Given the description of an element on the screen output the (x, y) to click on. 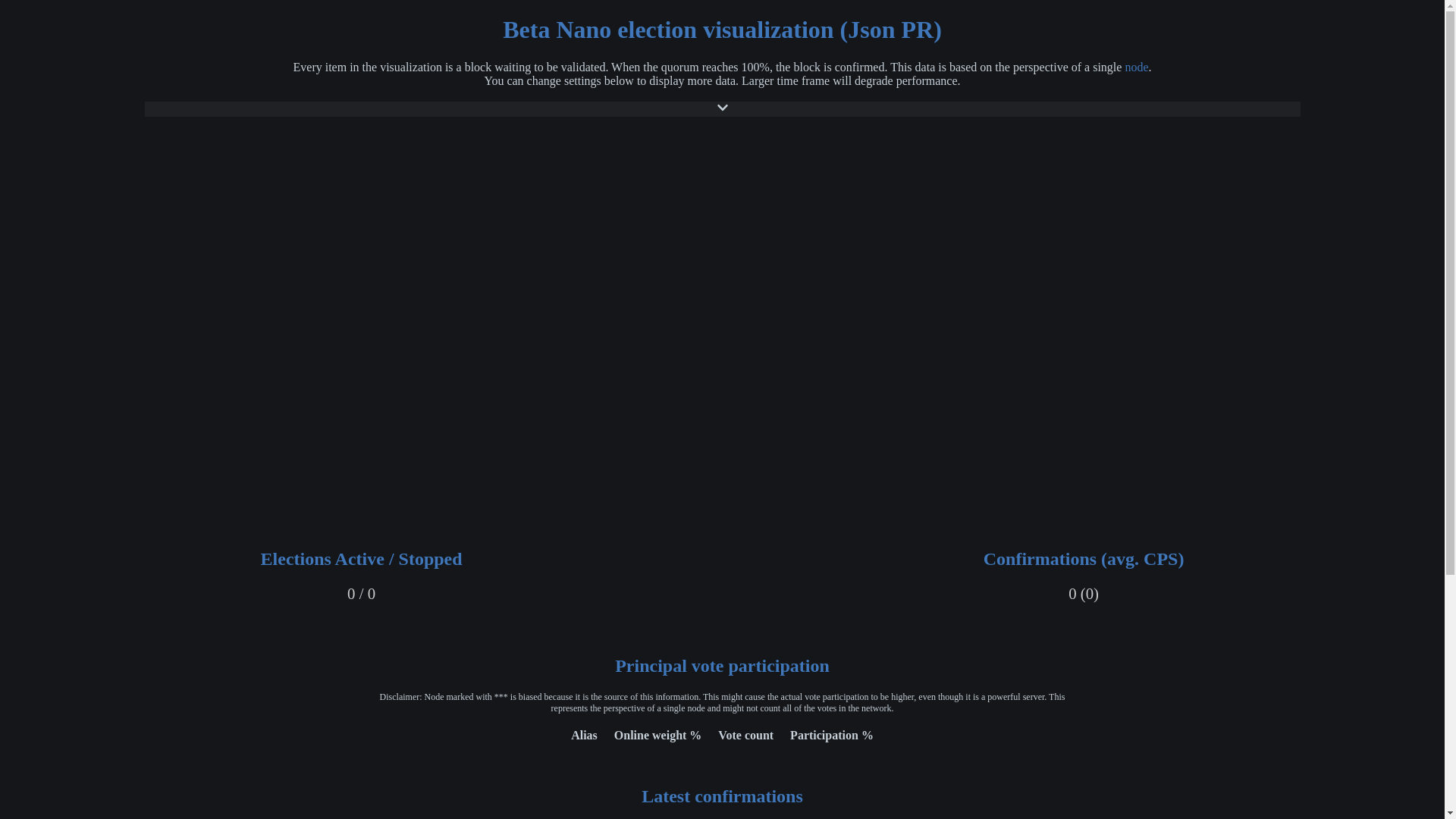
node Element type: text (1136, 66)
